Given the description of an element on the screen output the (x, y) to click on. 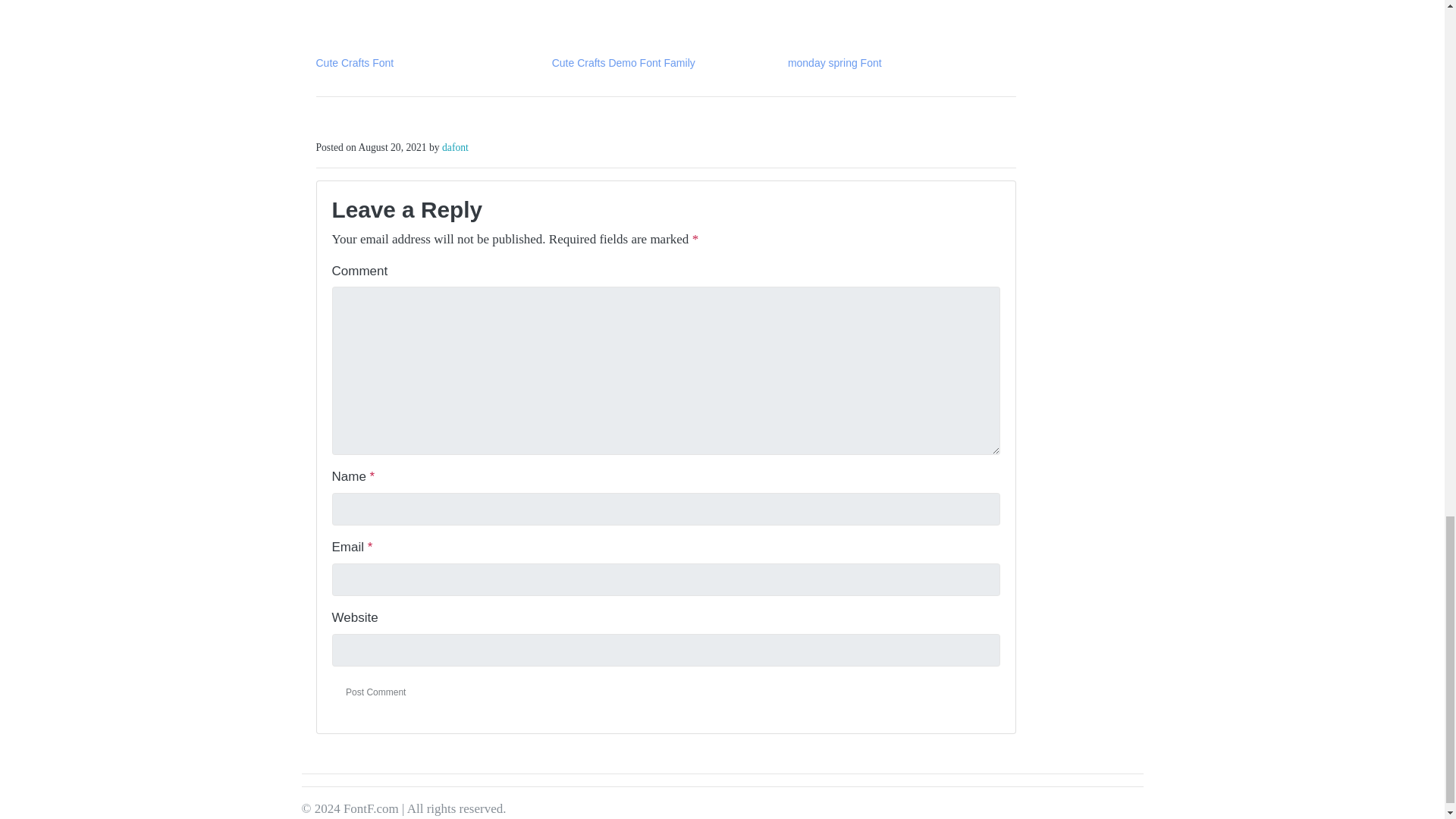
monday spring Font (834, 62)
Cute Crafts Font (354, 62)
Cute Crafts Demo Font Family (623, 62)
Post Comment (375, 691)
Post Comment (375, 691)
